Given the description of an element on the screen output the (x, y) to click on. 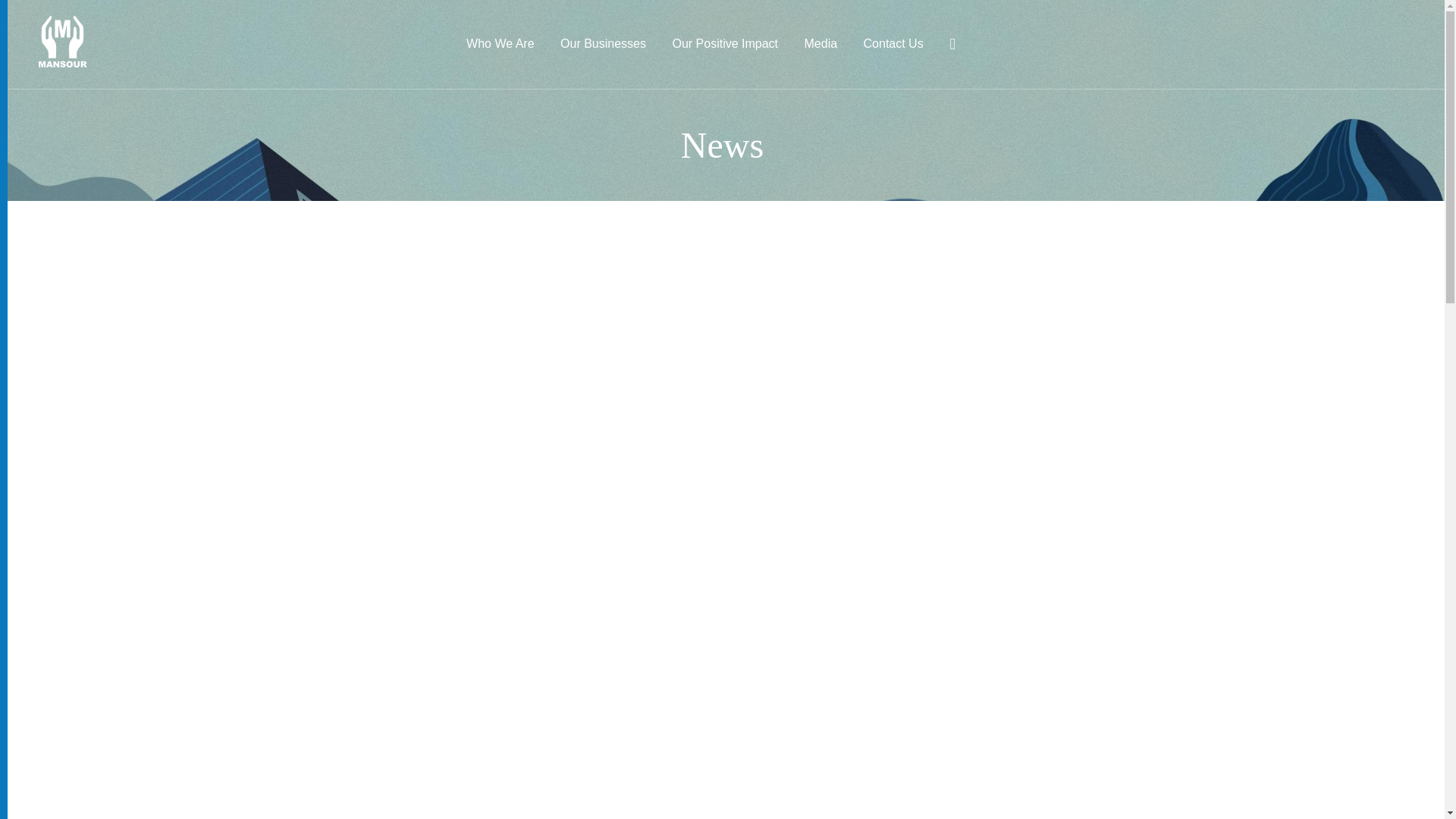
Contact Us (893, 43)
Who We Are (499, 43)
Media (820, 43)
Mansour Group (42, 21)
Our Businesses (603, 43)
Our Positive Impact (724, 43)
